Given the description of an element on the screen output the (x, y) to click on. 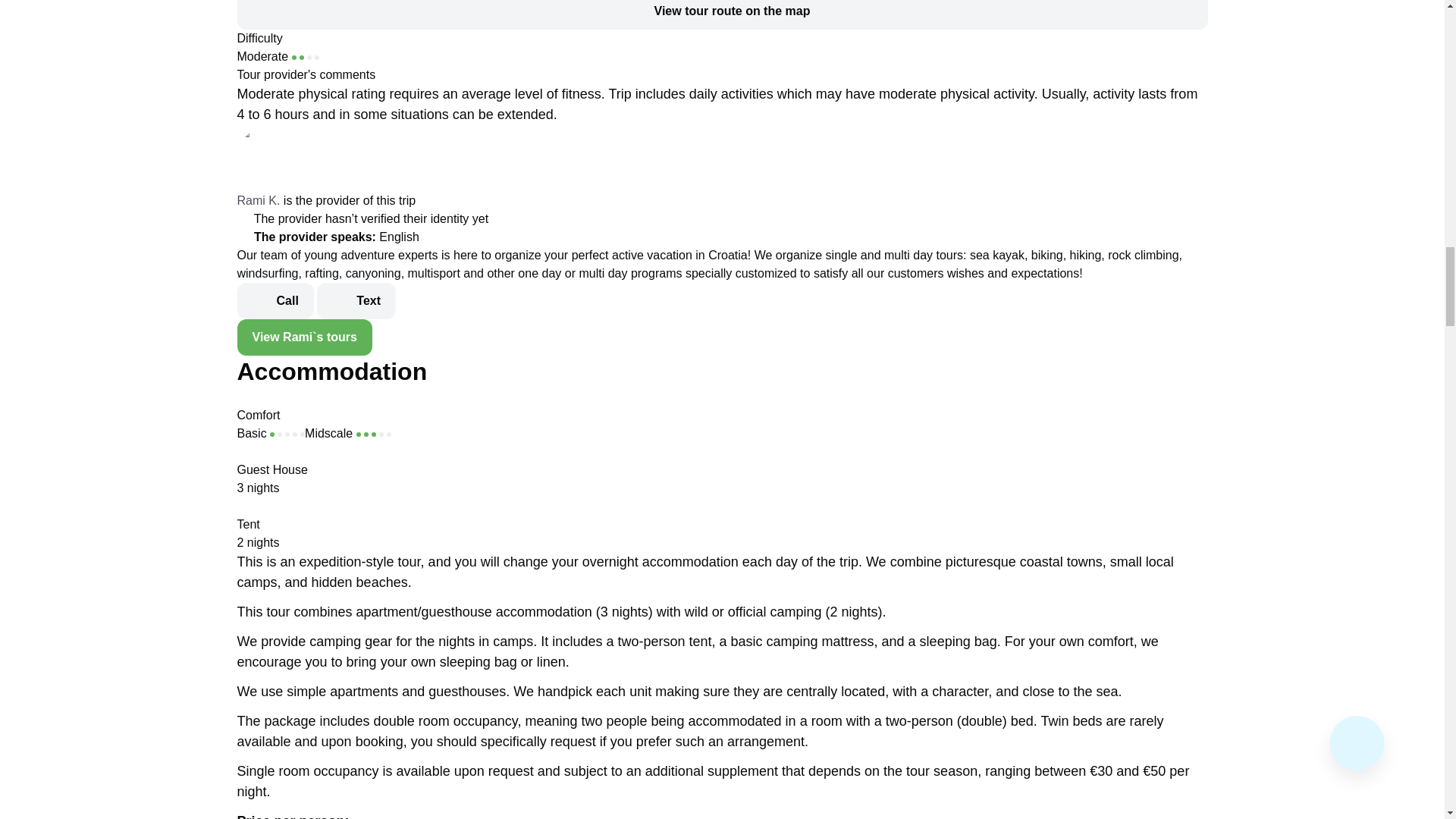
Rami K. (257, 200)
View tour route on the map (721, 14)
